Given the description of an element on the screen output the (x, y) to click on. 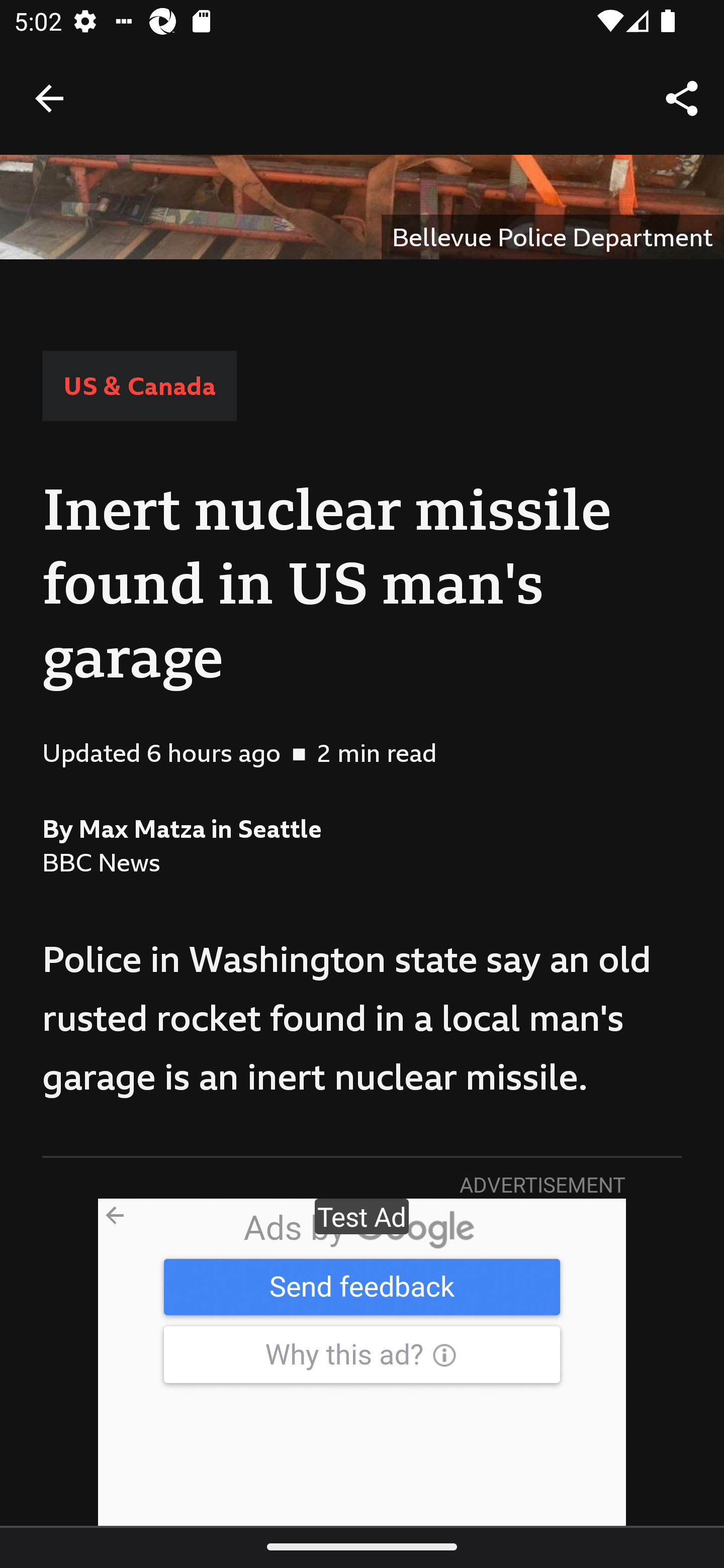
Back (49, 97)
Share (681, 98)
An officer near the rusty rocket (362, 206)
US & Canada (138, 385)
